Given the description of an element on the screen output the (x, y) to click on. 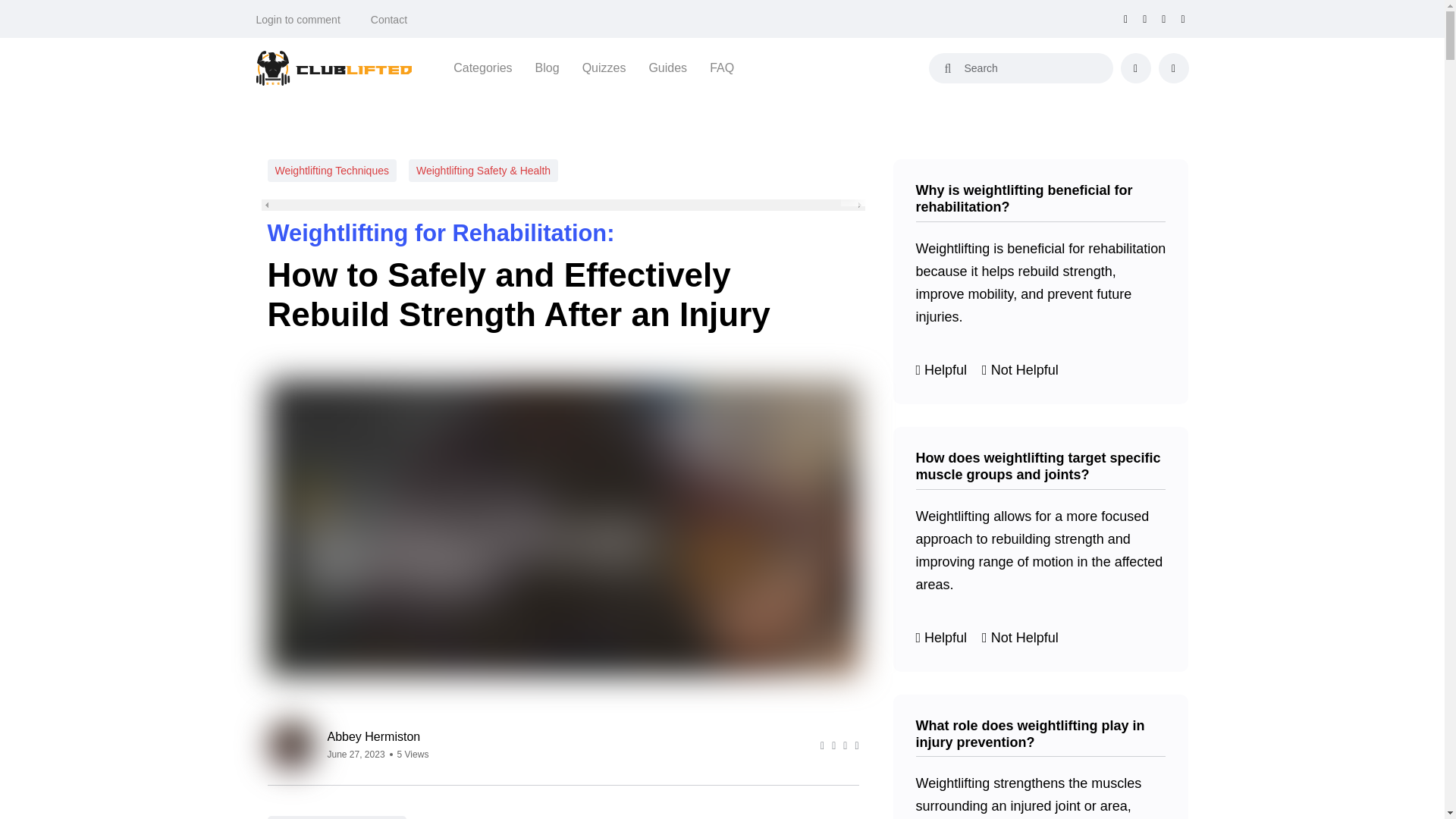
Categories (482, 67)
Login to comment (298, 19)
Contact (389, 19)
